Given the description of an element on the screen output the (x, y) to click on. 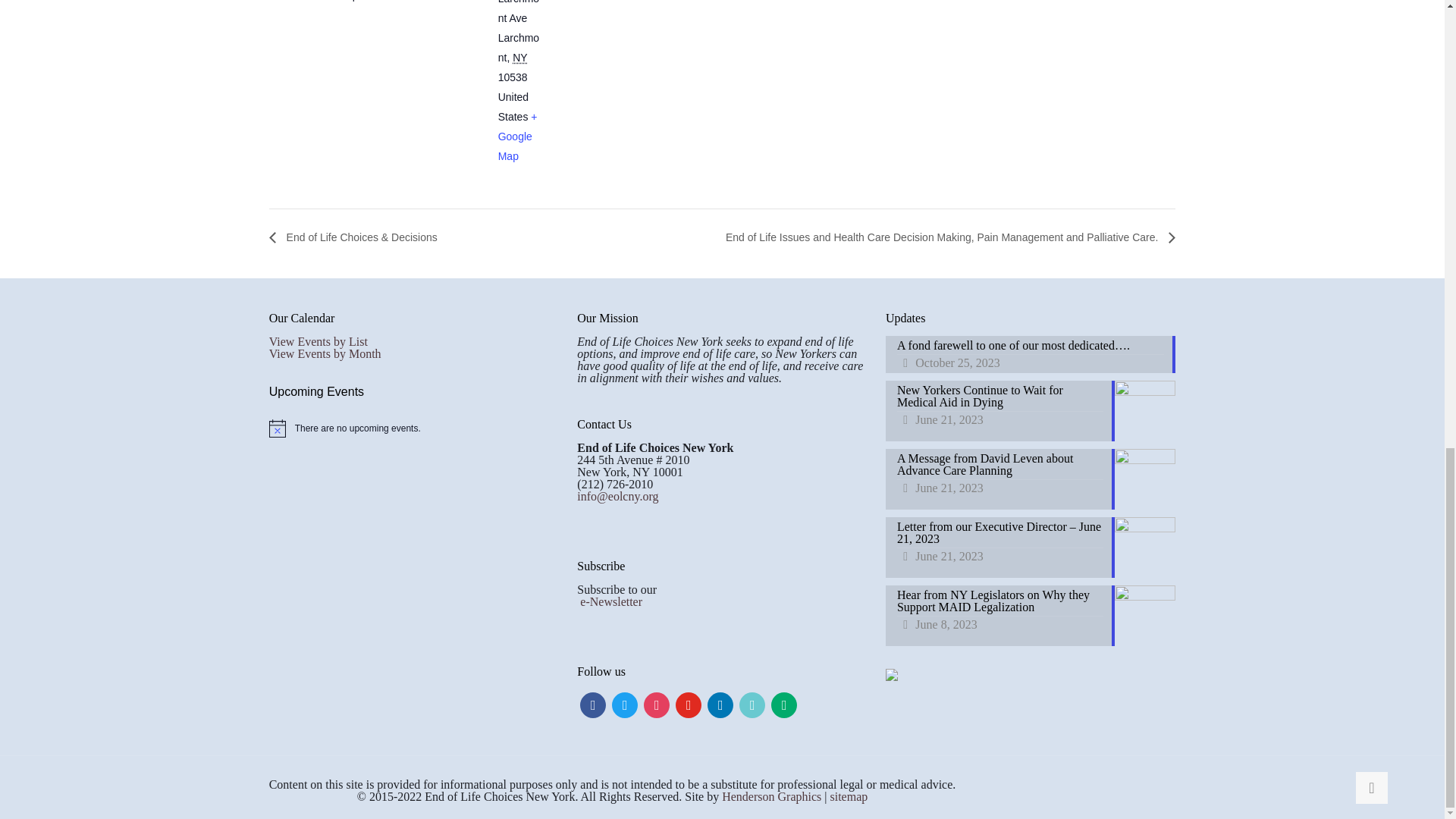
Default Label (783, 703)
2017-11-27 (374, 0)
Instagram (656, 703)
Twitter (624, 703)
Default Label (752, 703)
New York (519, 57)
Default Label (720, 703)
Facebook (592, 703)
Default Label (688, 703)
